Given the description of an element on the screen output the (x, y) to click on. 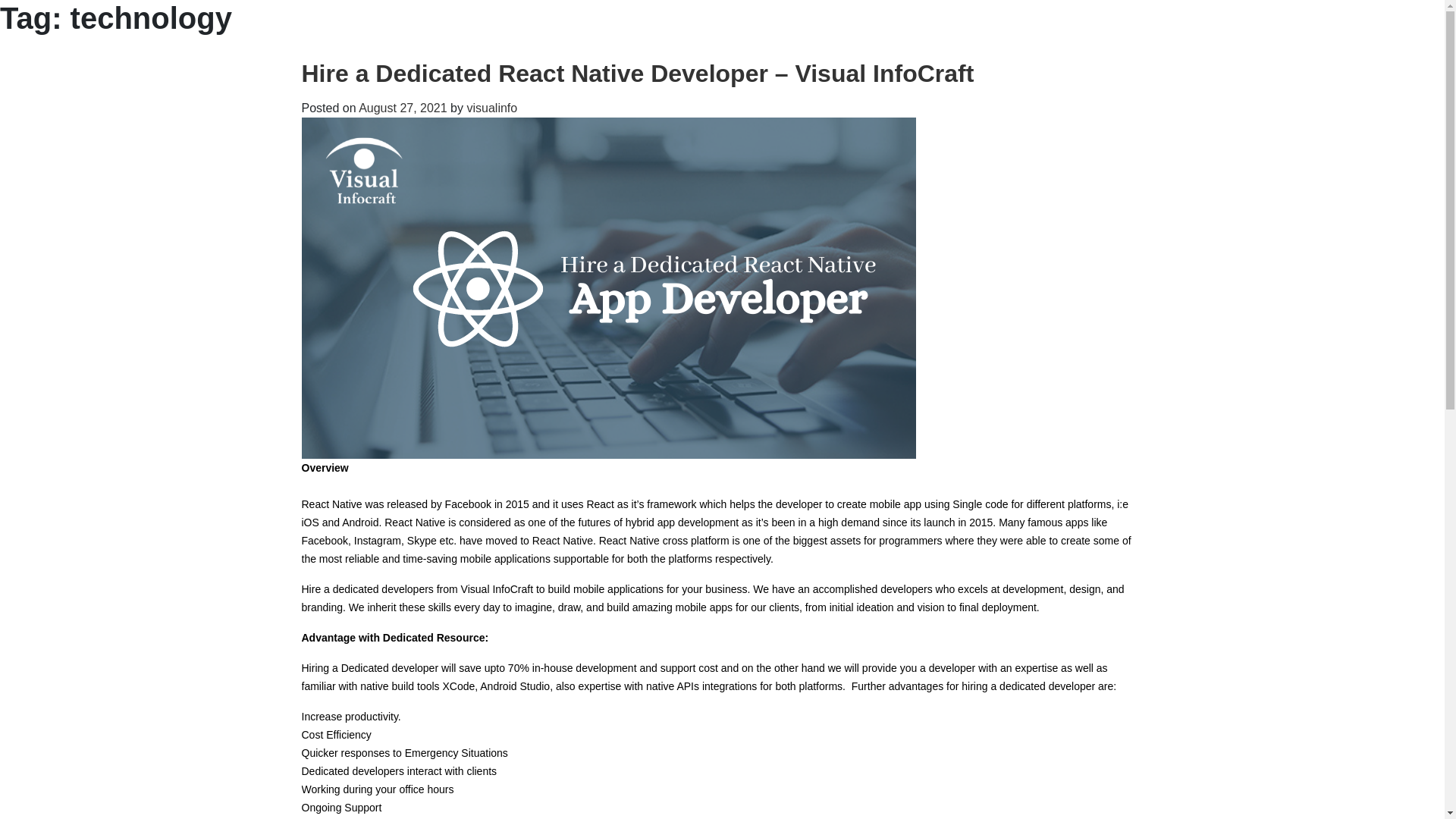
CONTACT (890, 33)
August 27, 2021 (402, 107)
HOME (586, 33)
visualinfo (490, 107)
ABOUT (656, 33)
BLOG (814, 33)
SERVICES (737, 33)
